Given the description of an element on the screen output the (x, y) to click on. 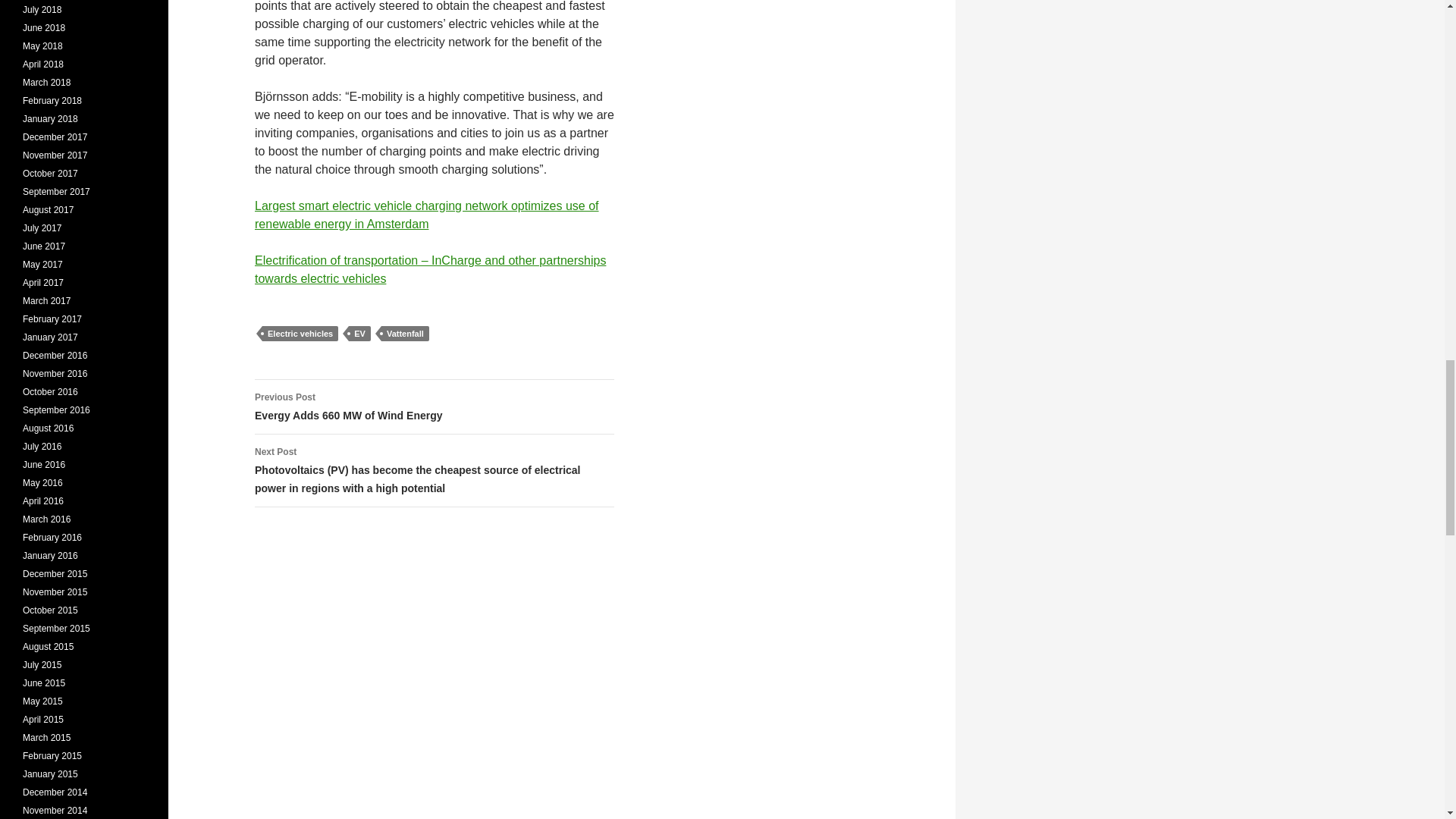
Electric vehicles (299, 333)
Vattenfall (405, 333)
EV (360, 333)
